Given the description of an element on the screen output the (x, y) to click on. 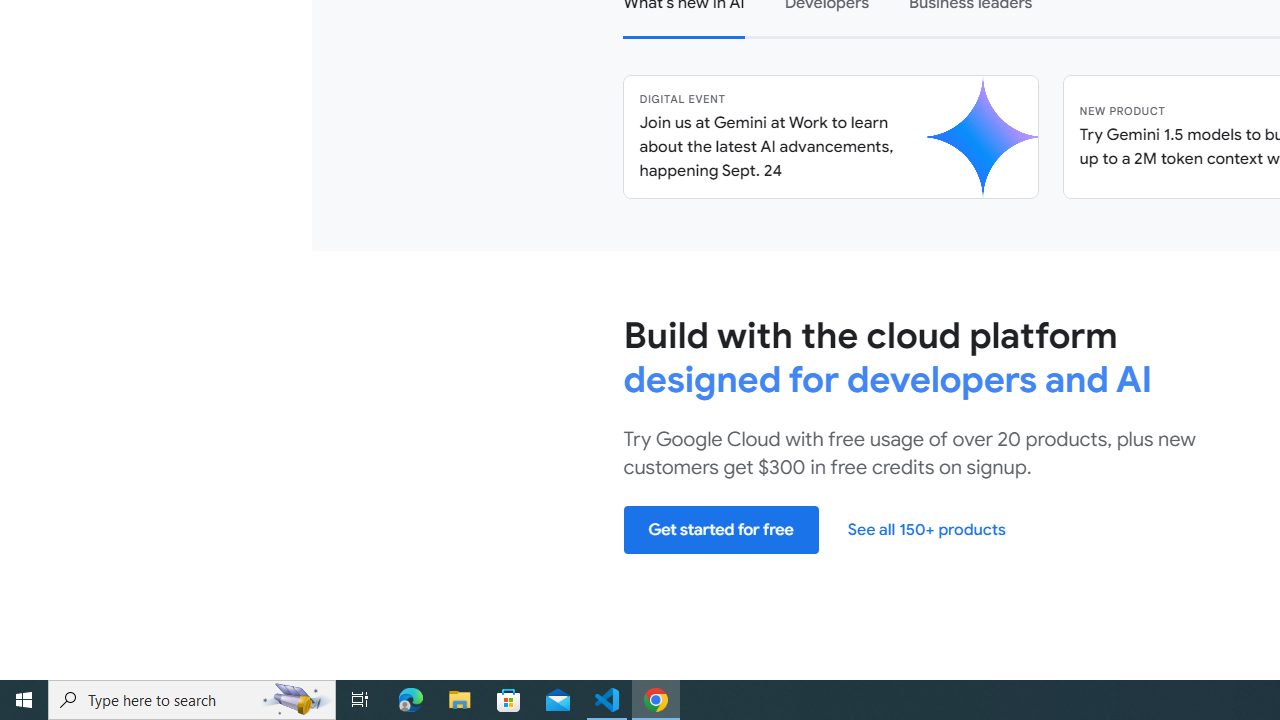
Get started for free (721, 528)
See all 150+ products (926, 528)
